Given the description of an element on the screen output the (x, y) to click on. 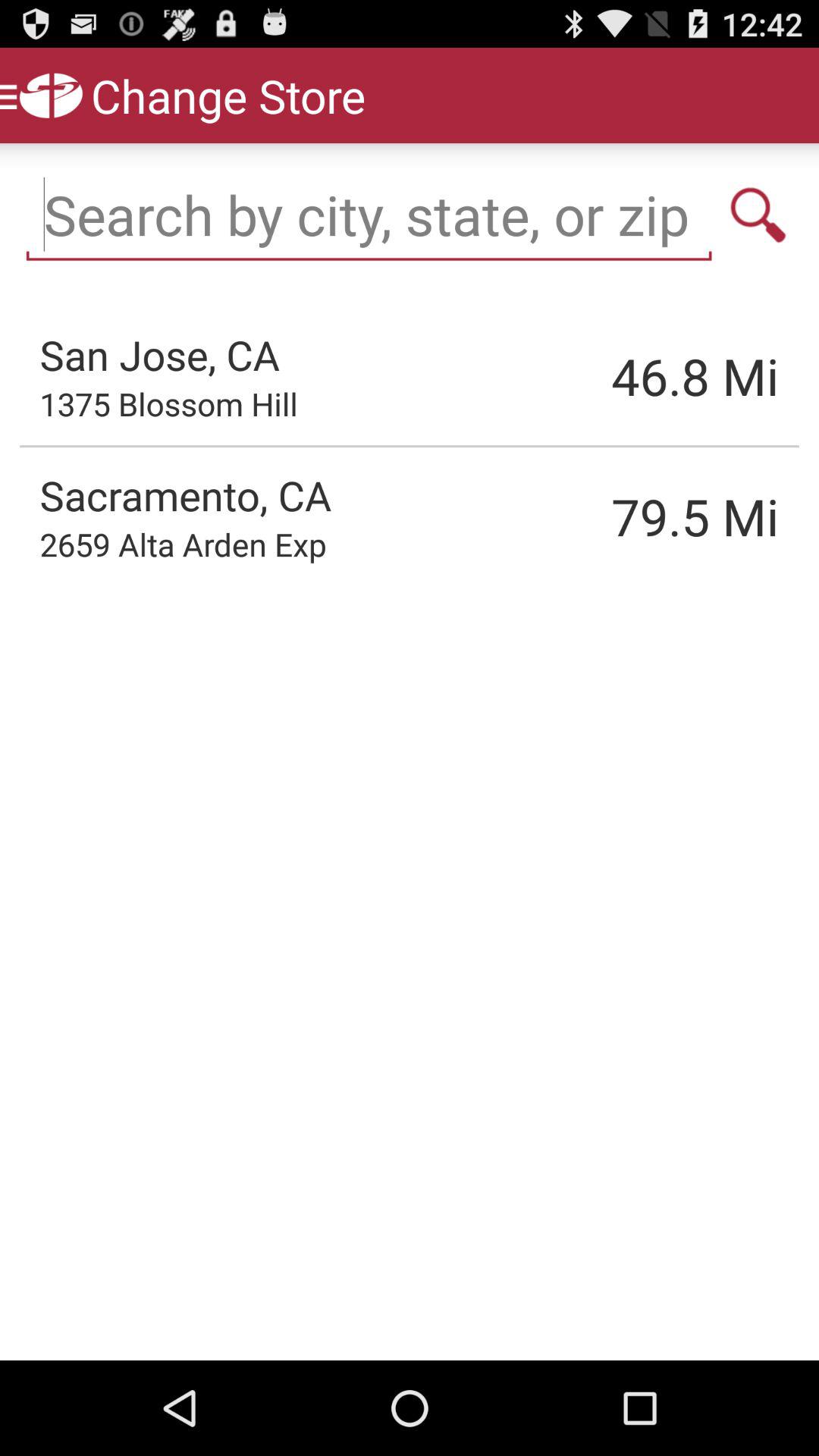
scroll to the 46.8 app (617, 376)
